Given the description of an element on the screen output the (x, y) to click on. 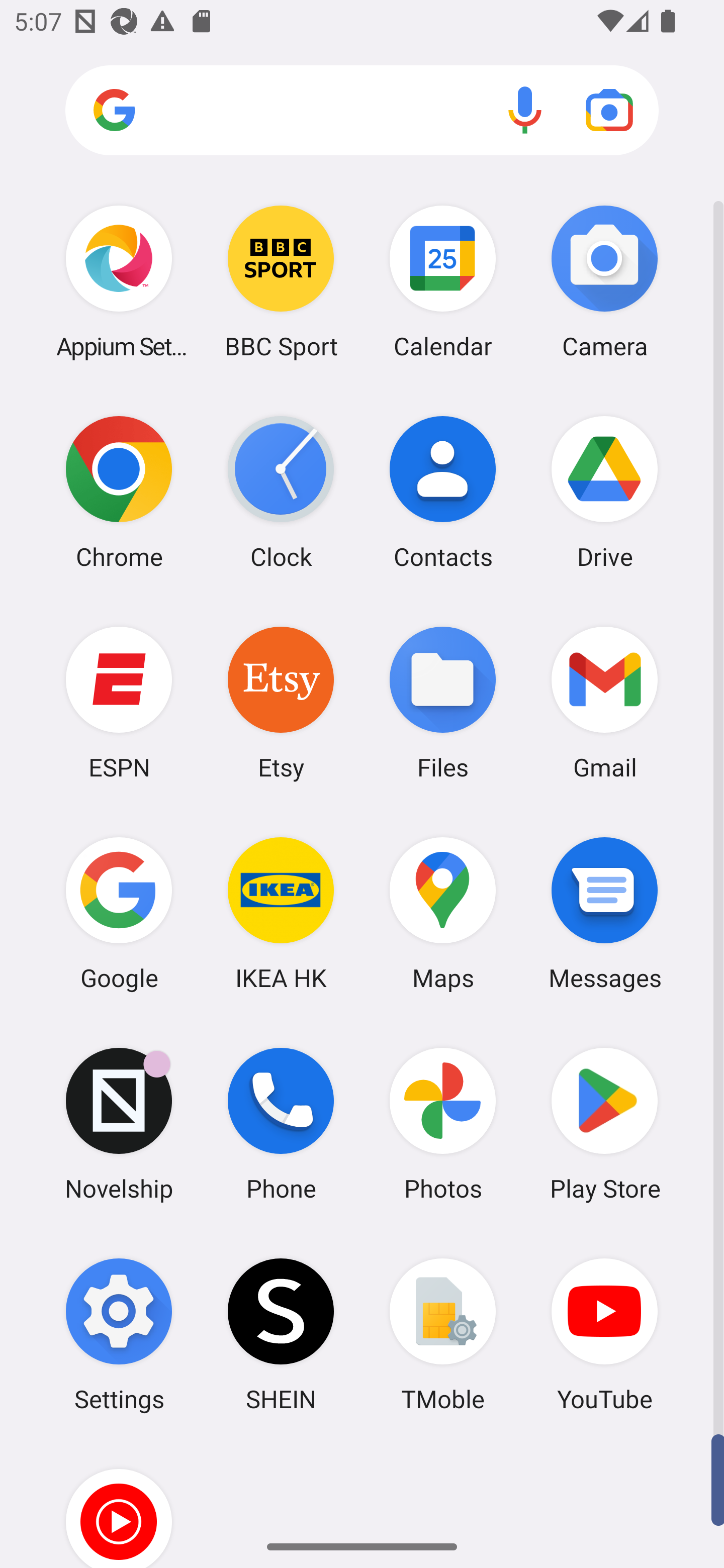
Search apps, web and more (361, 110)
Voice search (524, 109)
Google Lens (608, 109)
Appium Settings (118, 281)
BBC Sport (280, 281)
Calendar (443, 281)
Camera (604, 281)
Chrome (118, 492)
Clock (280, 492)
Contacts (443, 492)
Drive (604, 492)
ESPN (118, 702)
Etsy (280, 702)
Files (443, 702)
Gmail (604, 702)
Google (118, 913)
IKEA HK (280, 913)
Maps (443, 913)
Messages (604, 913)
Novelship Novelship has 1 notification (118, 1124)
Phone (280, 1124)
Photos (443, 1124)
Play Store (604, 1124)
Settings (118, 1334)
SHEIN (280, 1334)
TMoble (443, 1334)
YouTube (604, 1334)
YT Music (118, 1503)
